Given the description of an element on the screen output the (x, y) to click on. 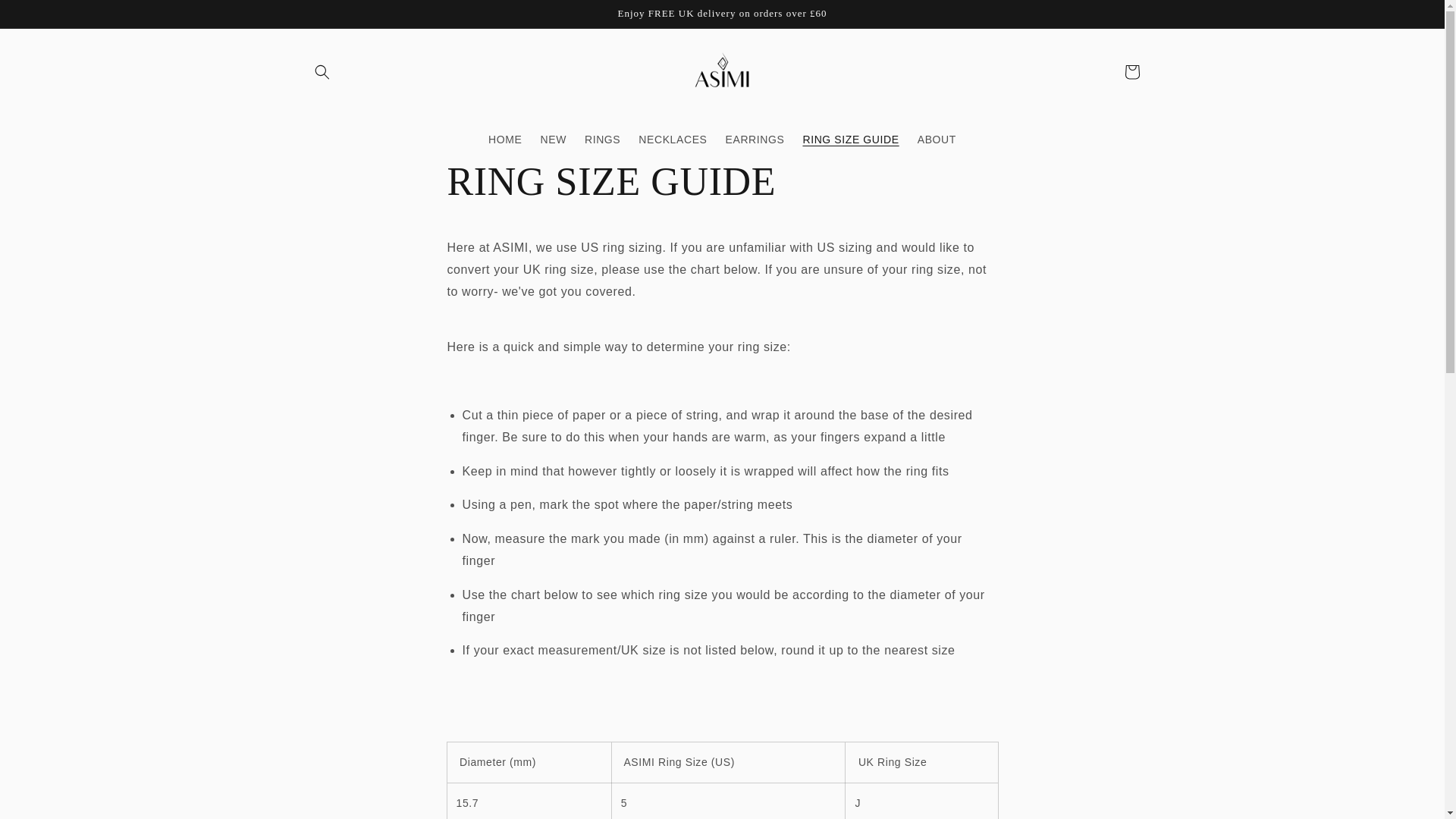
NECKLACES (672, 139)
RING SIZE GUIDE (850, 139)
RINGS (601, 139)
EARRINGS (754, 139)
ABOUT (936, 139)
Skip to content (45, 17)
NEW (553, 139)
Cart (1131, 71)
HOME (505, 139)
